Given the description of an element on the screen output the (x, y) to click on. 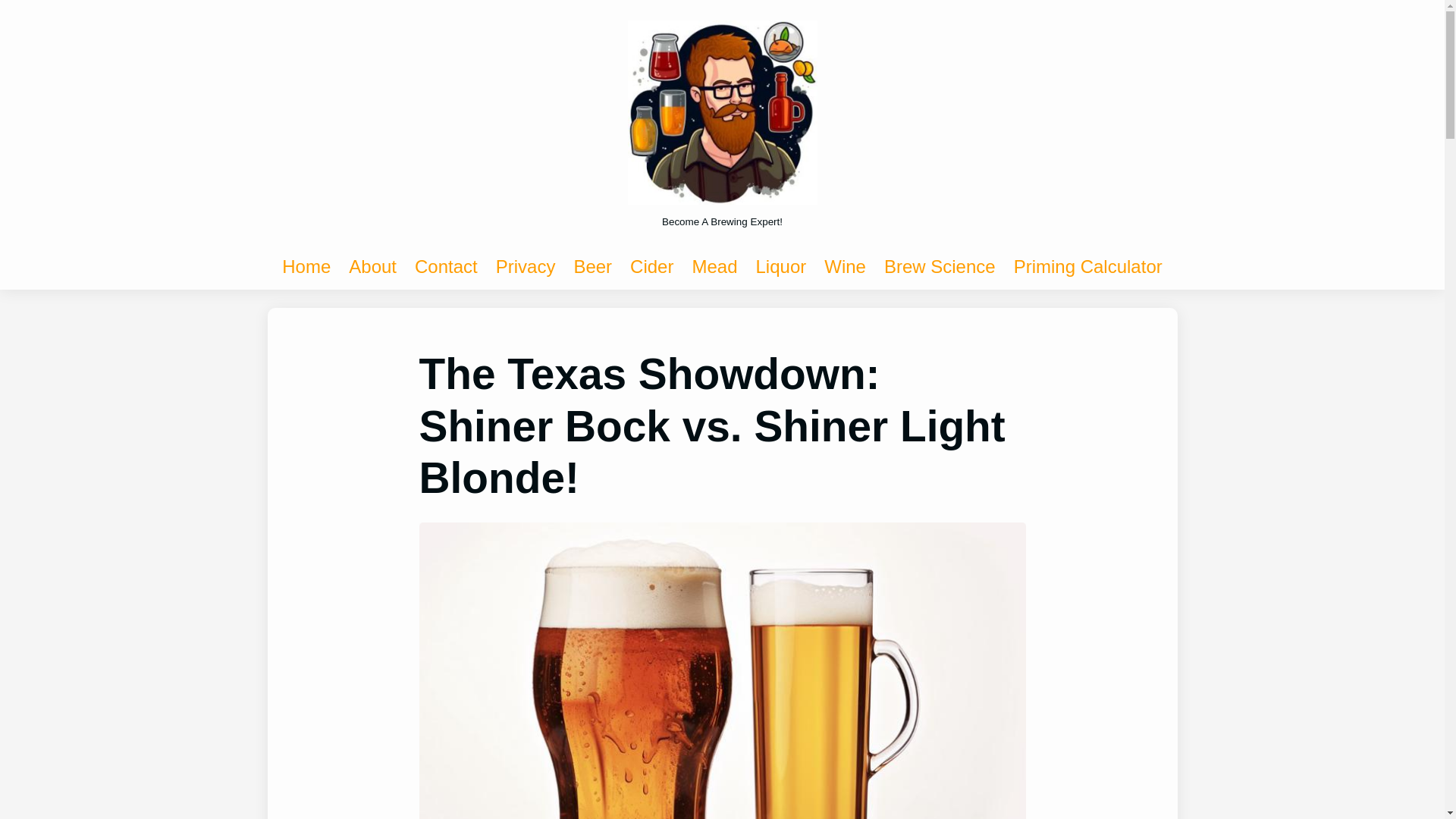
Contact (445, 266)
Cider (651, 266)
Home (306, 266)
Priming Calculator (1087, 266)
Liquor (780, 266)
Privacy (526, 266)
Beer (592, 266)
Mead (713, 266)
Wine (845, 266)
About (372, 266)
Brew Science (939, 266)
